Given the description of an element on the screen output the (x, y) to click on. 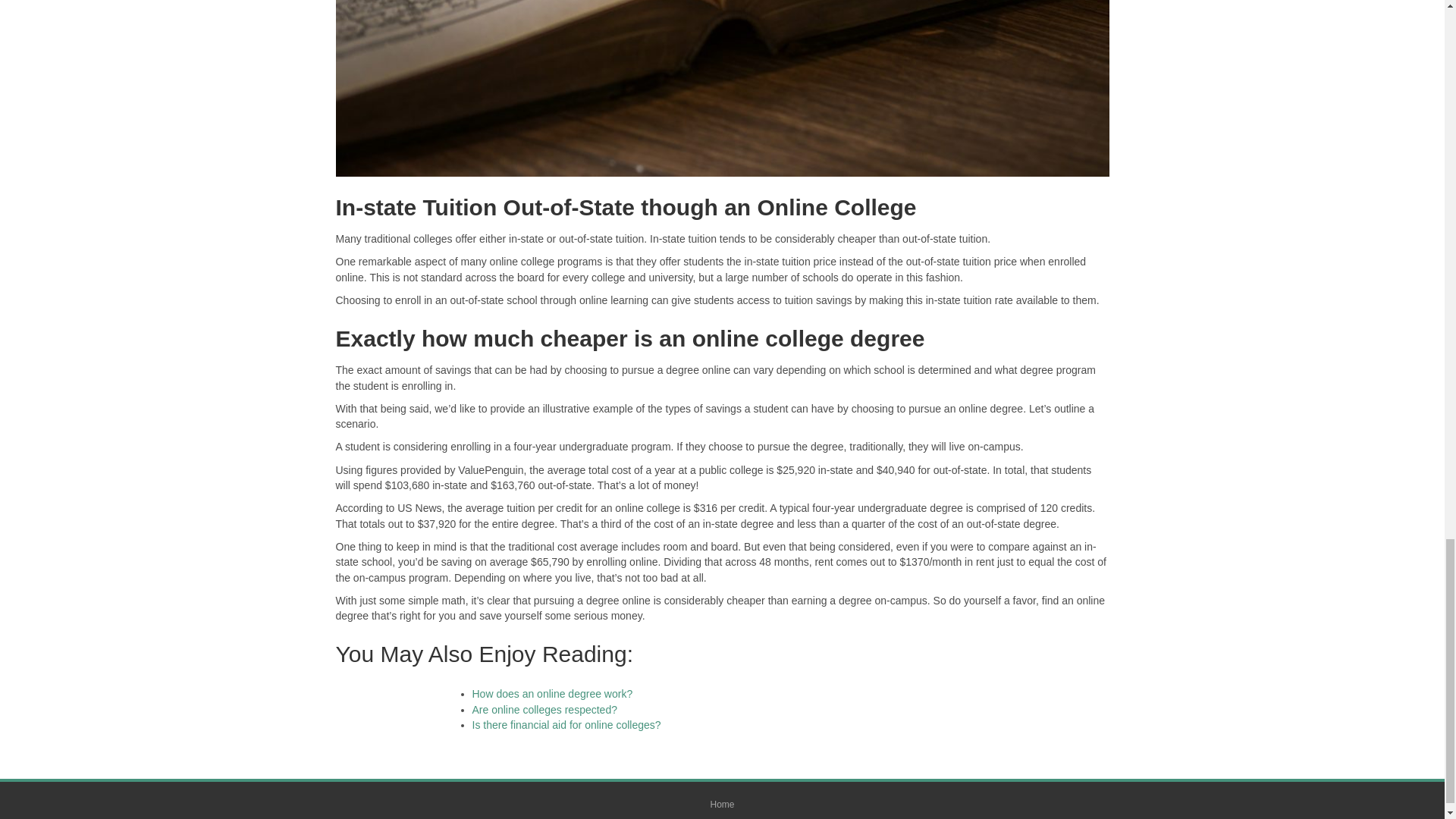
Home (721, 807)
Are online colleges respected? (543, 709)
Is there financial aid for online colleges? (566, 725)
How does an online degree work? (551, 693)
